Given the description of an element on the screen output the (x, y) to click on. 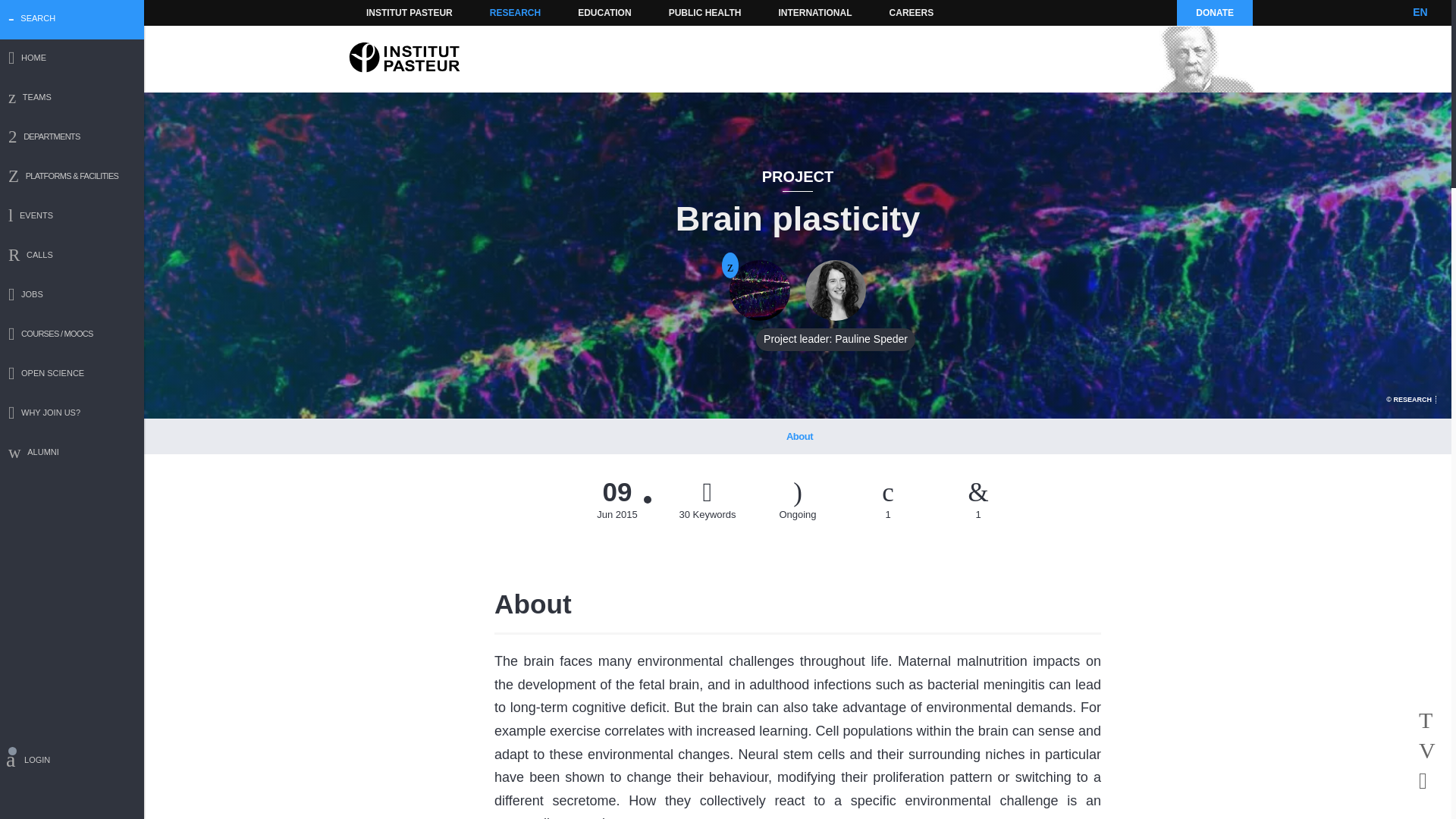
CALLS (72, 256)
Skip to content (387, 11)
RESEARCH (515, 12)
EN (1419, 11)
EDUCATION (603, 12)
OPEN SCIENCE (72, 374)
TEAMS (72, 98)
DEPARTMENTS (72, 137)
JOBS (72, 296)
About (799, 436)
